Given the description of an element on the screen output the (x, y) to click on. 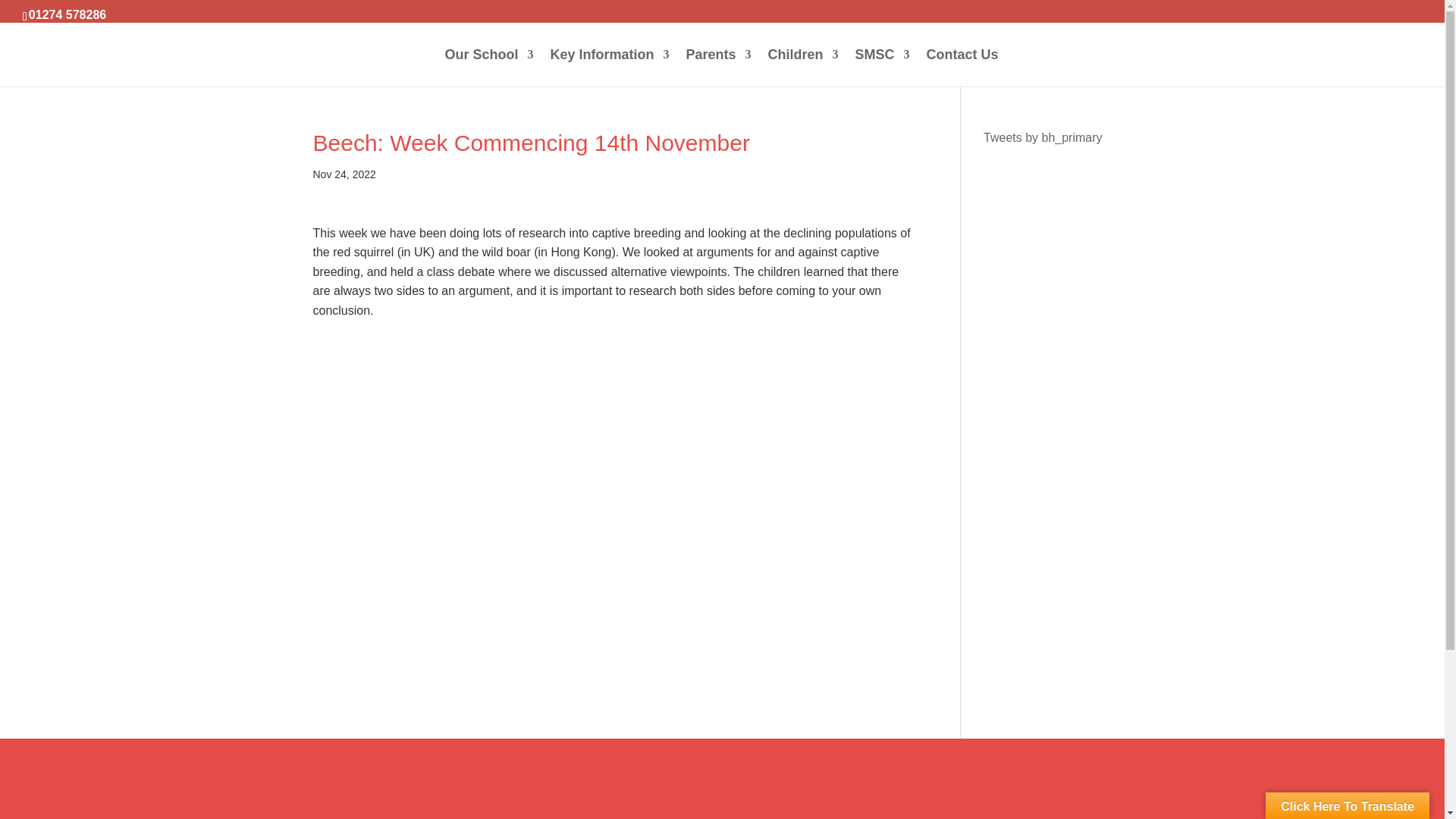
Our School (488, 67)
Key Information (609, 67)
Children (803, 67)
Parents (718, 67)
